Given the description of an element on the screen output the (x, y) to click on. 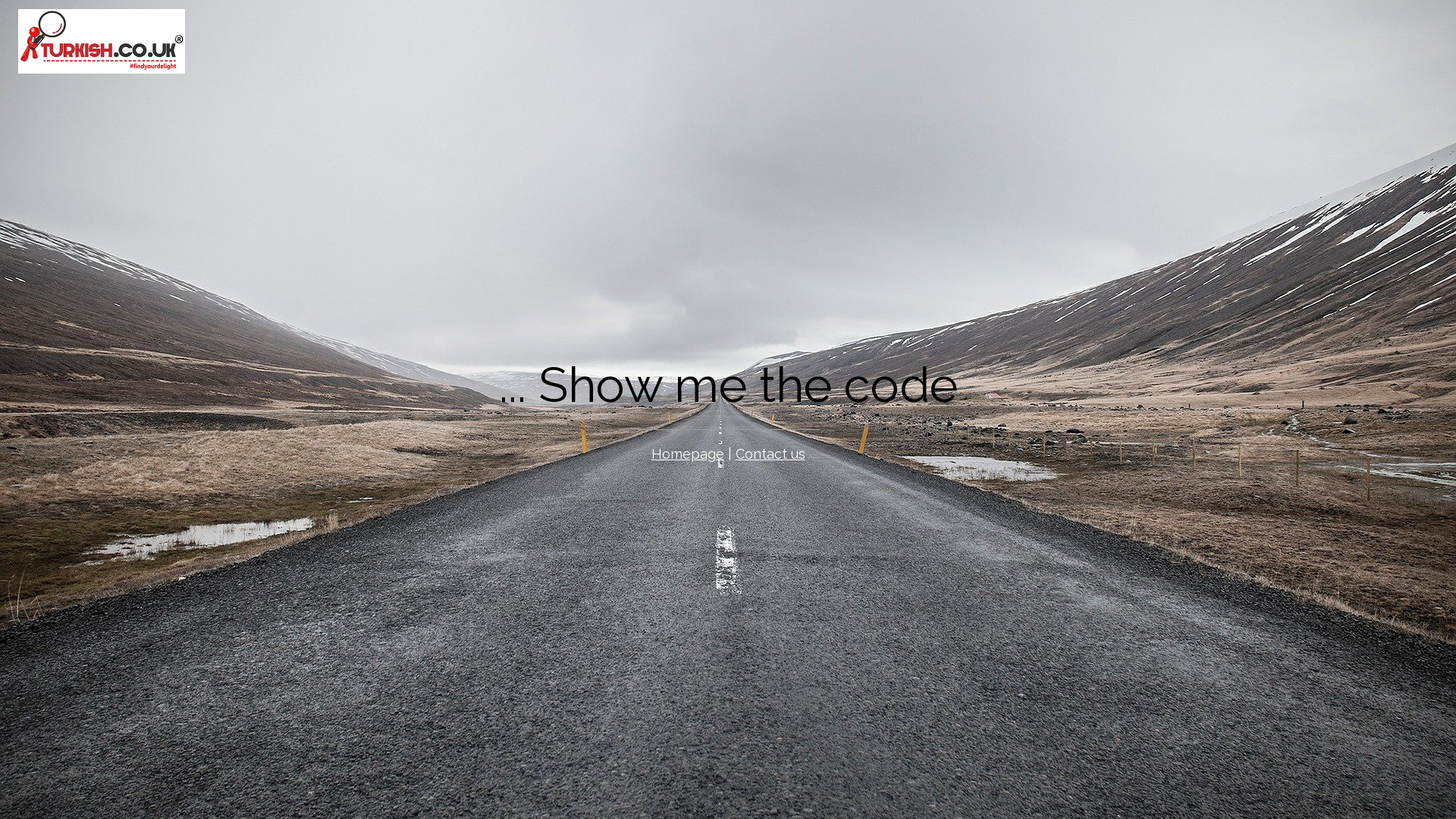
Contact us (770, 453)
Homepage (686, 453)
